Given the description of an element on the screen output the (x, y) to click on. 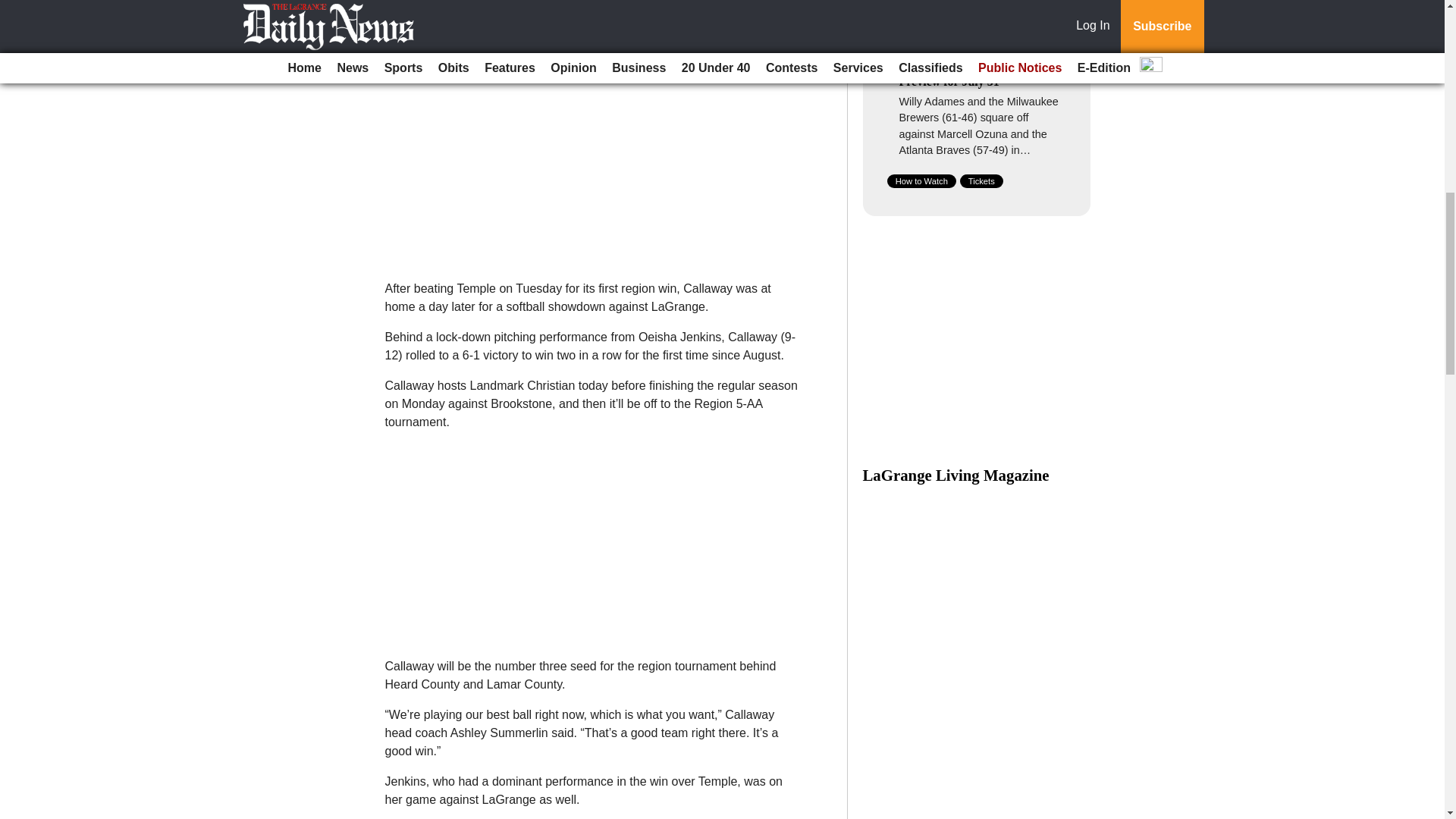
How to Watch (921, 181)
Braves vs. Brewers: Betting Preview for July 31 (970, 73)
Tickets (981, 181)
